Given the description of an element on the screen output the (x, y) to click on. 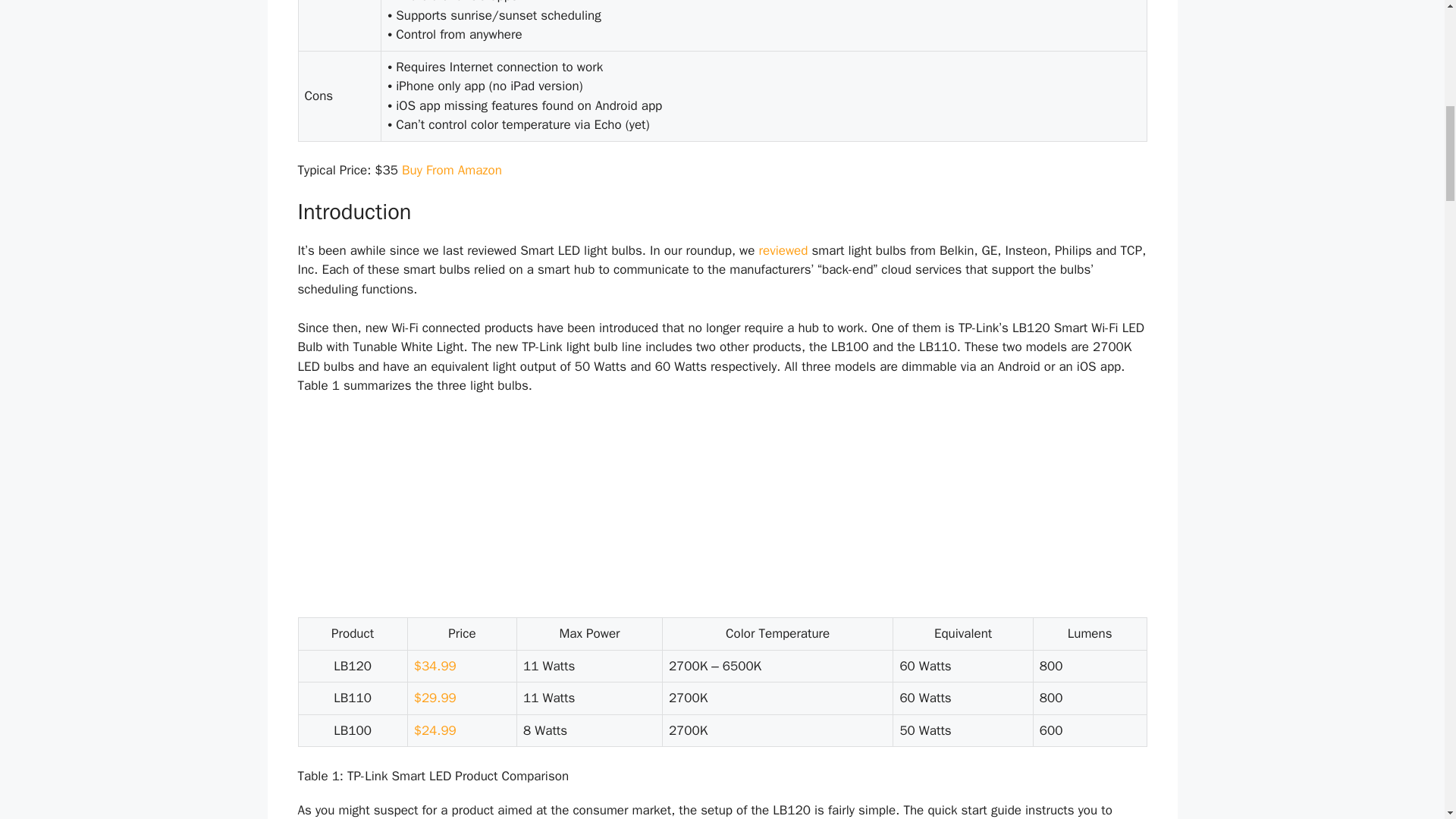
Scroll back to top (1406, 720)
